Given the description of an element on the screen output the (x, y) to click on. 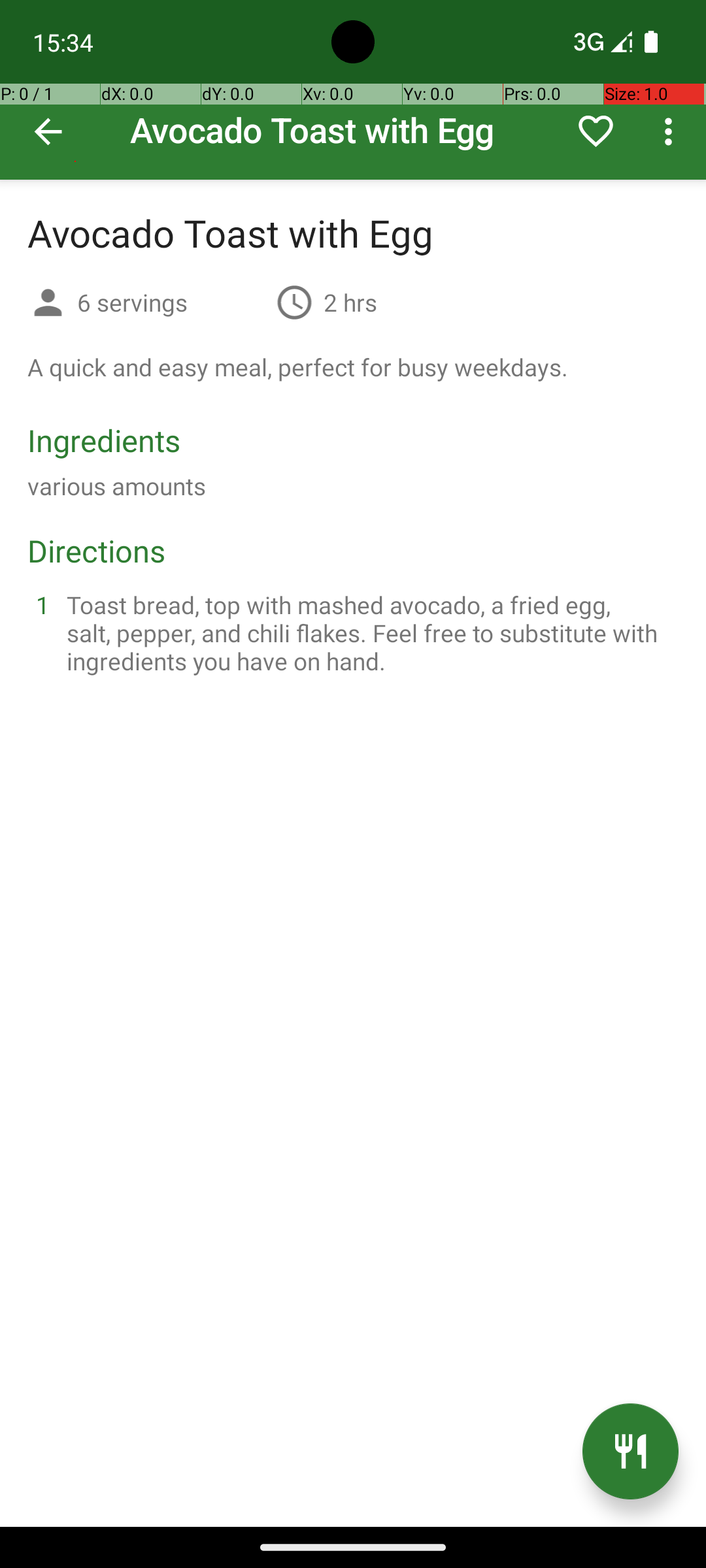
2 hrs Element type: android.widget.TextView (350, 301)
Toast bread, top with mashed avocado, a fried egg, salt, pepper, and chili flakes. Feel free to substitute with ingredients you have on hand. Element type: android.widget.TextView (368, 632)
